Given the description of an element on the screen output the (x, y) to click on. 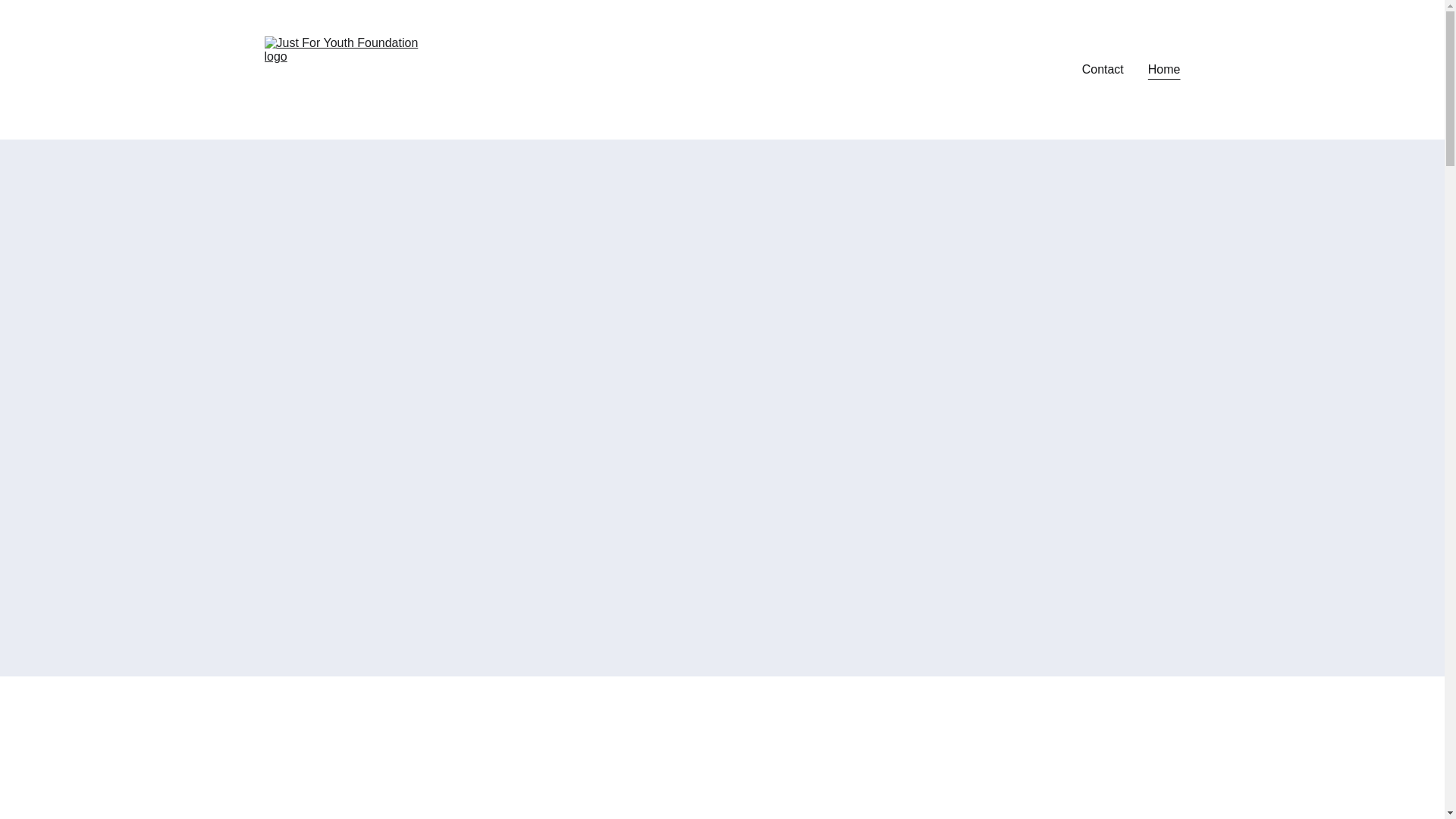
Home (1164, 69)
Contact (1102, 69)
